Given the description of an element on the screen output the (x, y) to click on. 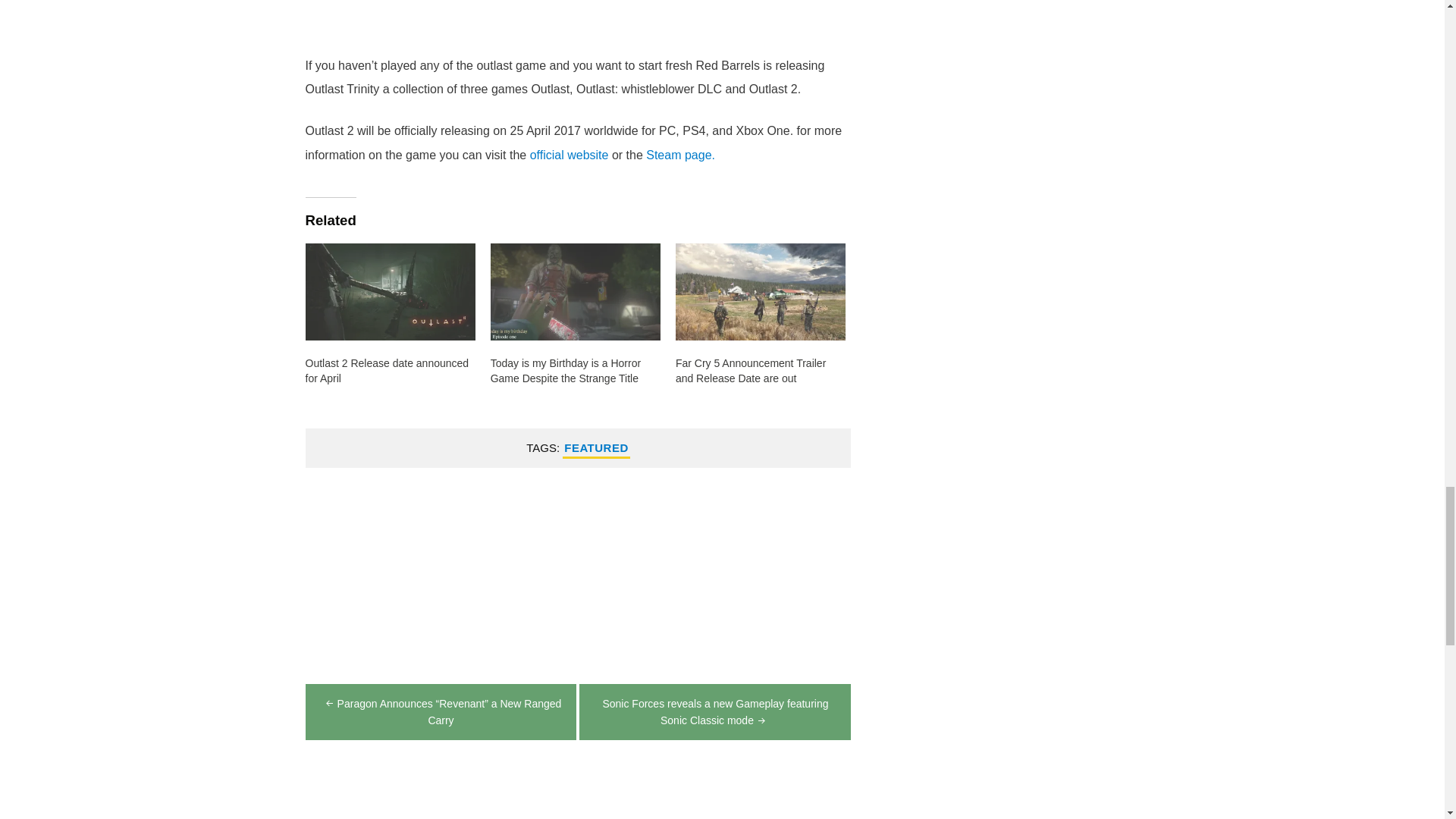
Outlast 2 Release date announced for April (386, 370)
Steam page. (680, 154)
official website (568, 154)
Far Cry 5 Announcement Trailer and Release Date are out (750, 370)
Outlast 2 Release date announced for April (389, 291)
Far Cry 5 Announcement Trailer and Release Date are out (760, 291)
Outlast 2 Release date announced for April (386, 370)
